Given the description of an element on the screen output the (x, y) to click on. 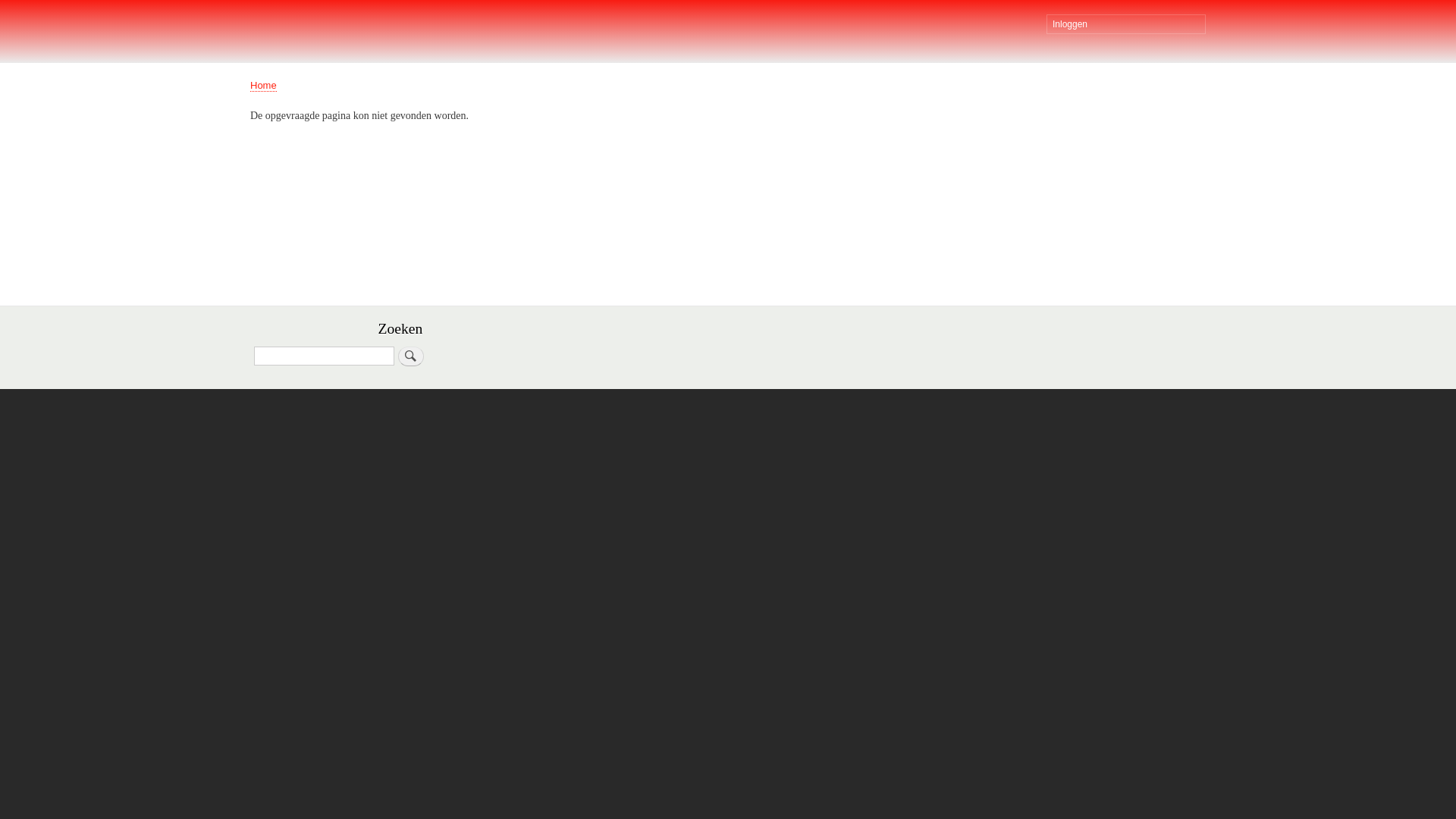
Overslaan en naar de inhoud gaan Element type: text (728, 1)
Home Element type: text (263, 85)
Geef de woorden op waarnaar u wilt zoeken. Element type: hover (324, 355)
Inloggen Element type: text (1125, 24)
Zoeken Element type: text (410, 356)
